Given the description of an element on the screen output the (x, y) to click on. 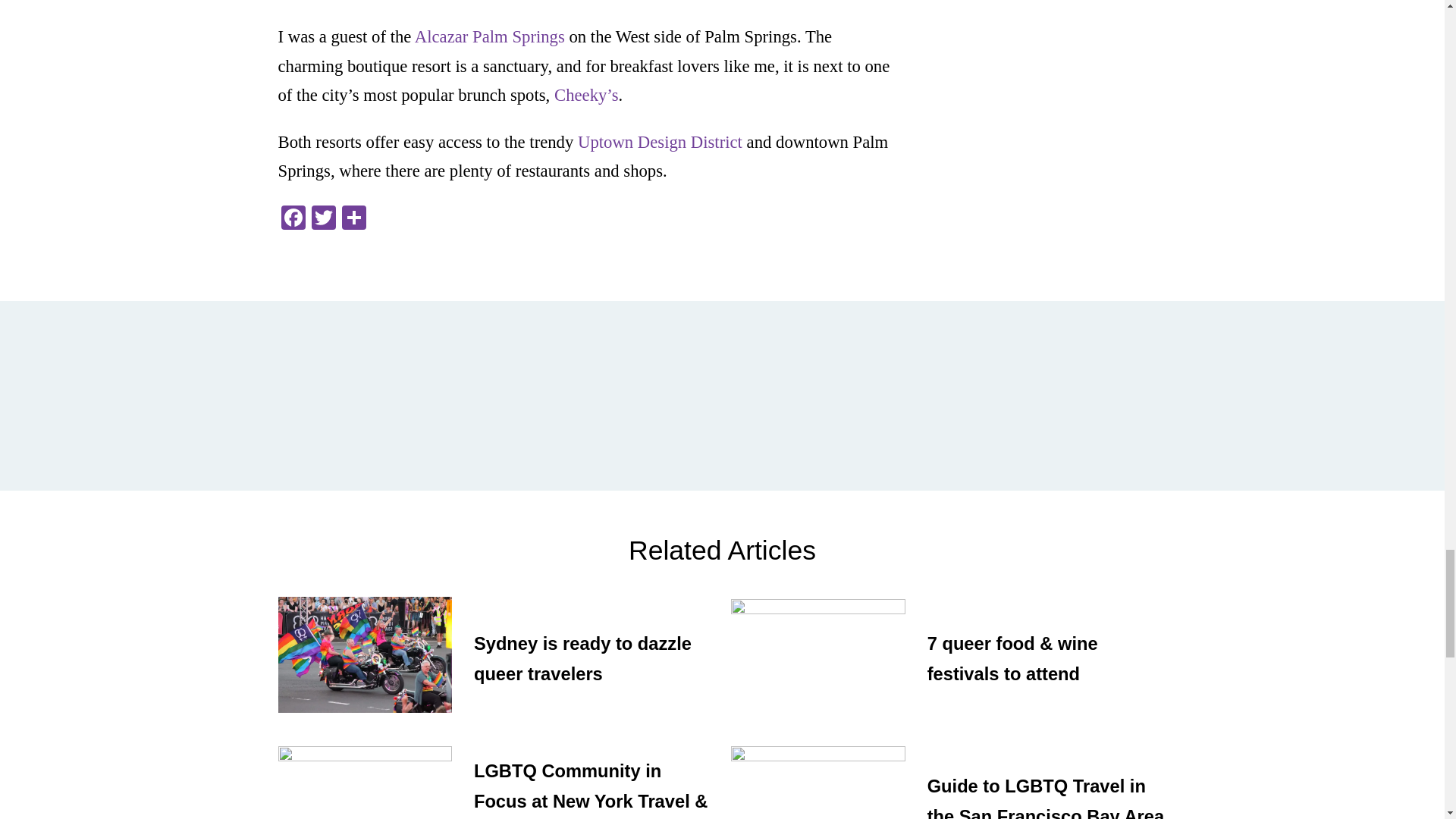
Facebook (292, 219)
Twitter (322, 219)
